Given the description of an element on the screen output the (x, y) to click on. 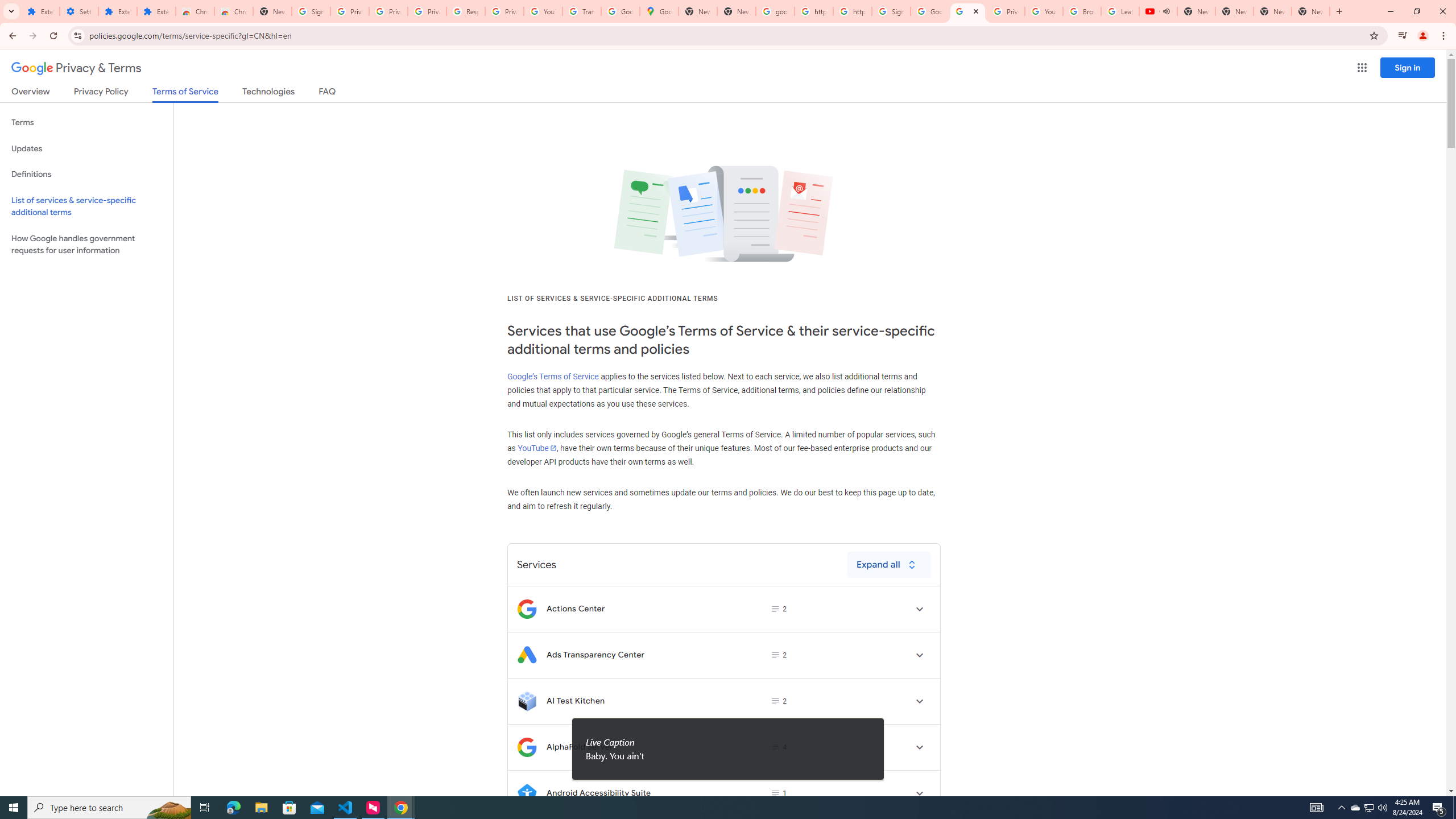
Settings (79, 11)
Logo for AI Test Kitchen (526, 700)
YouTube (536, 447)
YouTube (1043, 11)
https://scholar.google.com/ (852, 11)
Chrome Web Store - Themes (233, 11)
Extensions (156, 11)
